Given the description of an element on the screen output the (x, y) to click on. 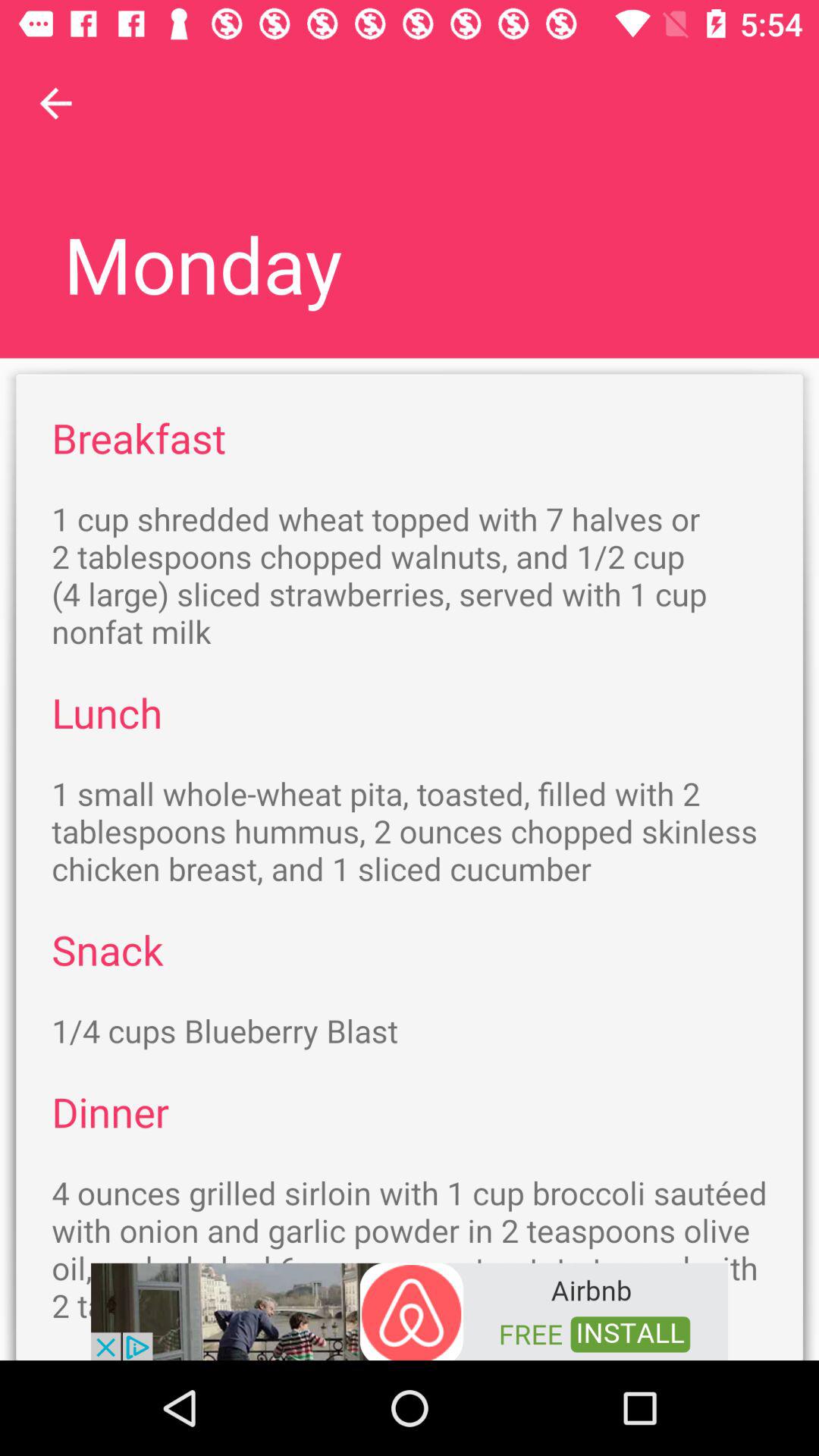
advertisement page (409, 1310)
